Given the description of an element on the screen output the (x, y) to click on. 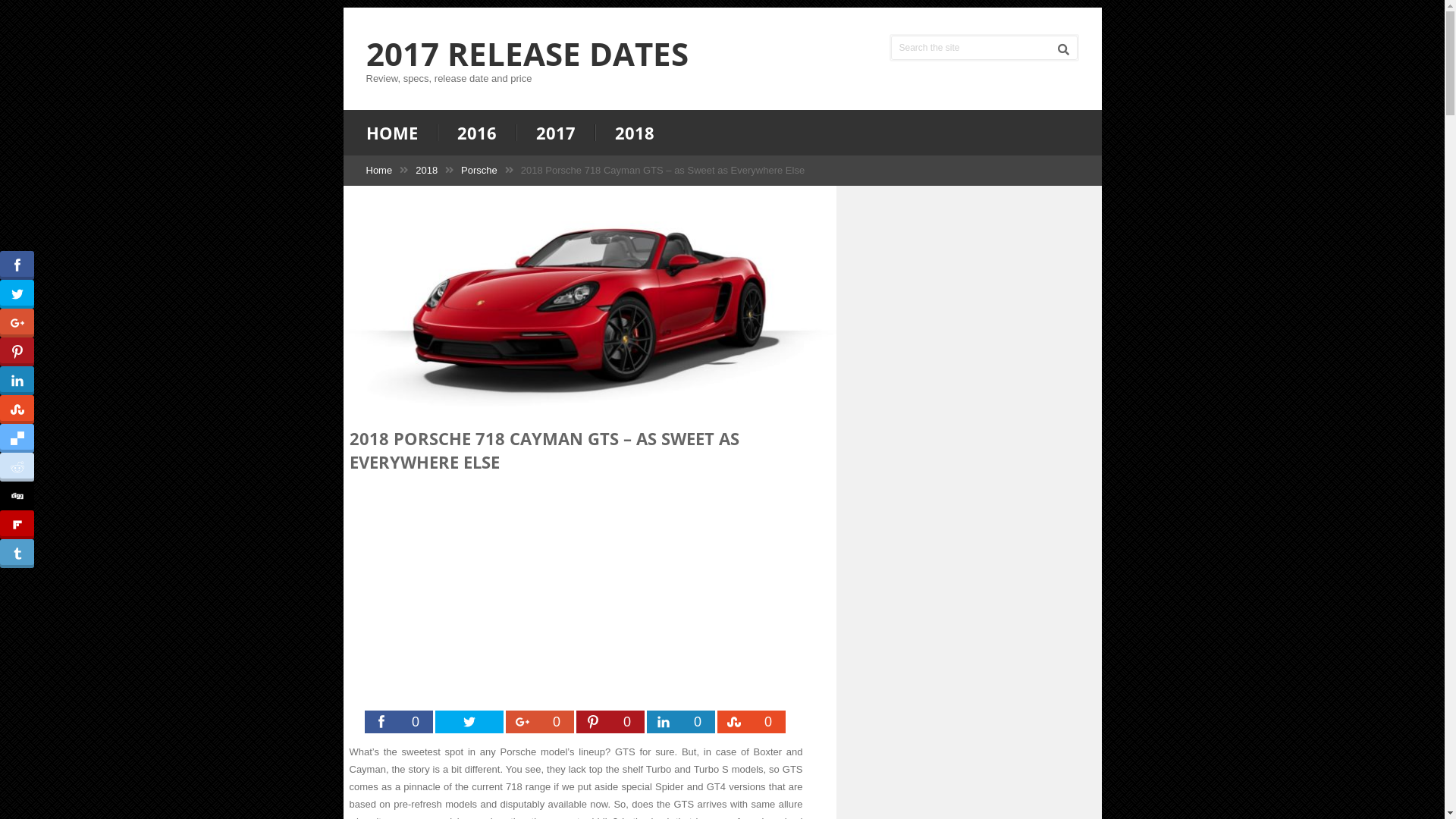
2018 Element type: text (633, 132)
Porsche Element type: text (479, 169)
0 Element type: text (539, 721)
2018 Element type: text (426, 169)
0 Element type: text (680, 721)
2016 Element type: text (475, 132)
Home Element type: text (378, 169)
0 Element type: text (610, 721)
Advertisement Element type: hover (575, 596)
2017 RELEASE DATES Element type: text (526, 53)
0 Element type: text (398, 721)
2017 Element type: text (554, 132)
0 Element type: text (751, 721)
HOME Element type: text (400, 132)
